Given the description of an element on the screen output the (x, y) to click on. 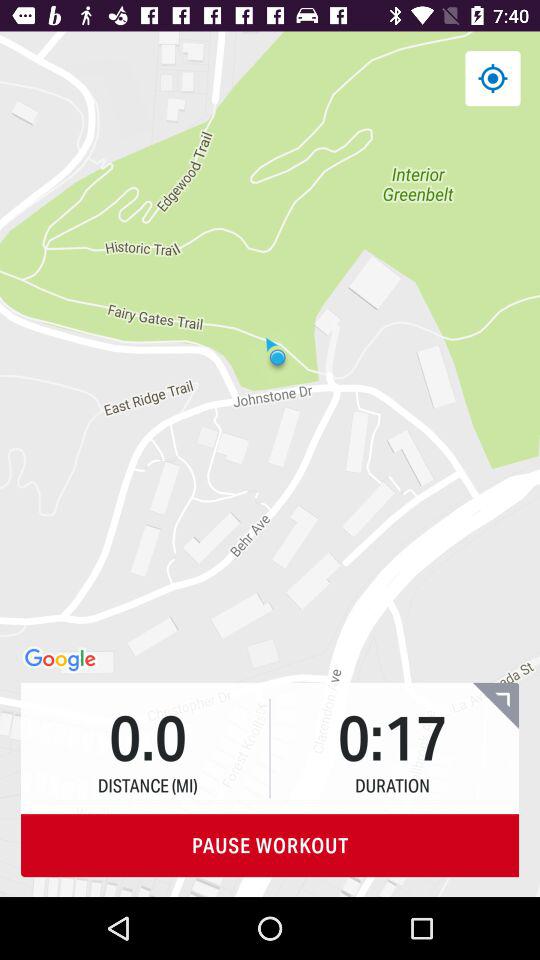
window opening envelope toggle (495, 705)
